Given the description of an element on the screen output the (x, y) to click on. 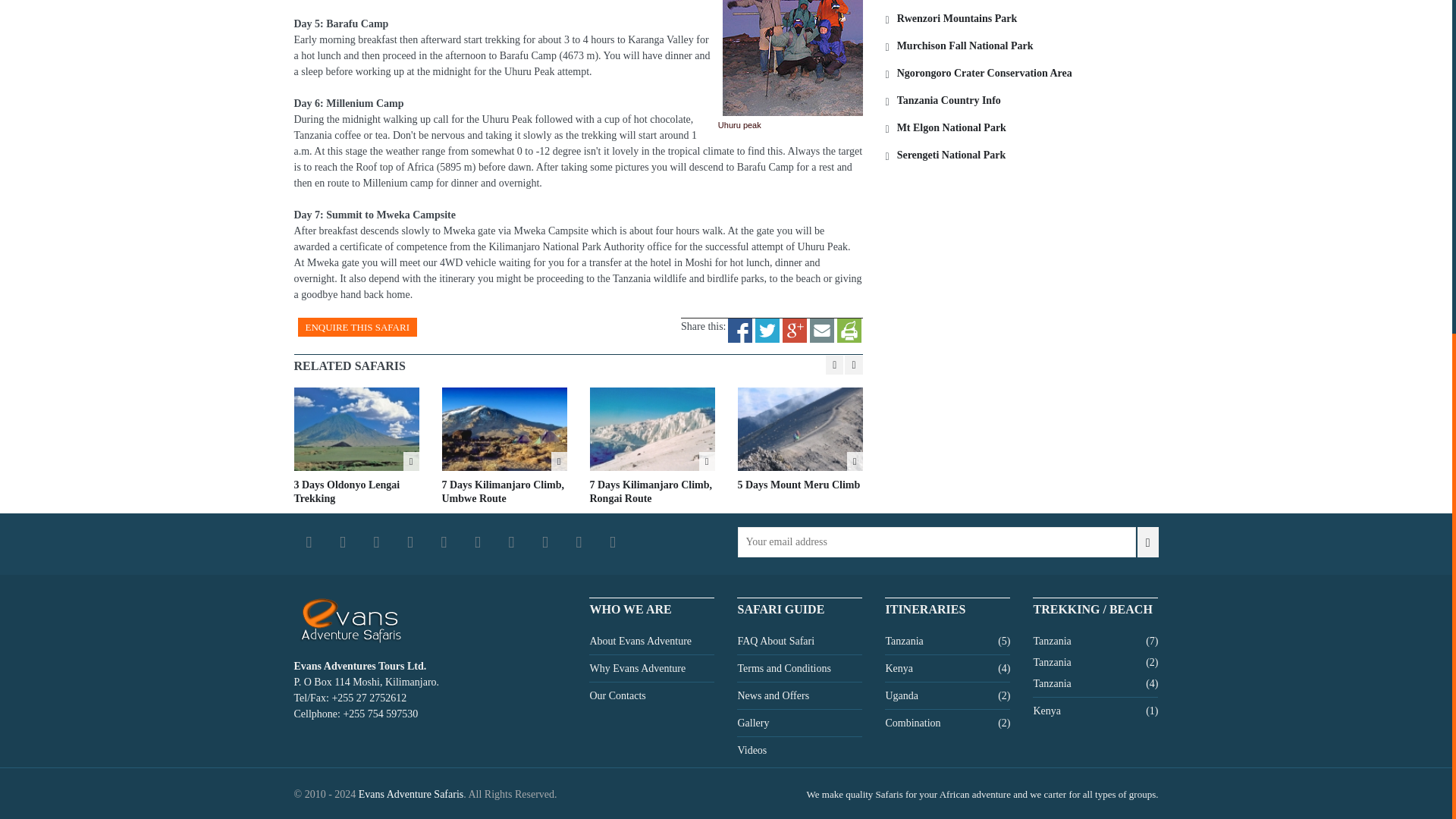
E-mail (821, 326)
Terms and Conditions (782, 668)
PrintFriendly (849, 326)
Facebook (740, 326)
News and Offers (772, 695)
FAQ About Safari (774, 641)
Why Evans Adventure (637, 668)
About Evans Adventure (640, 641)
Our Contacts (617, 695)
Twitter (766, 326)
